Given the description of an element on the screen output the (x, y) to click on. 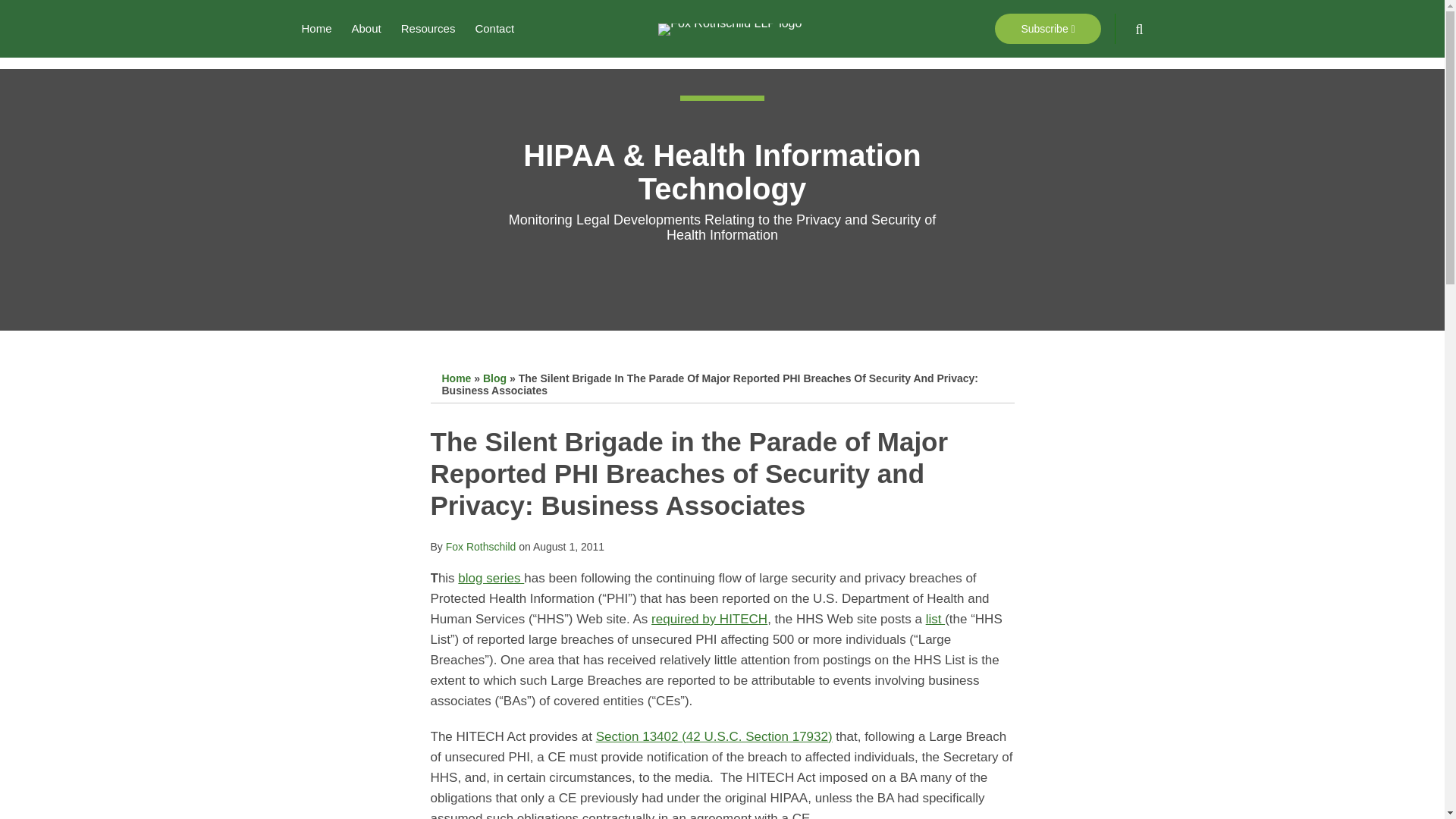
Resources (428, 28)
list (935, 618)
About (366, 28)
Fox Rothschild (480, 546)
Subscribe (1047, 28)
Blog (494, 378)
blog series (491, 577)
Home (455, 378)
Home (316, 28)
Contact (493, 28)
